Given the description of an element on the screen output the (x, y) to click on. 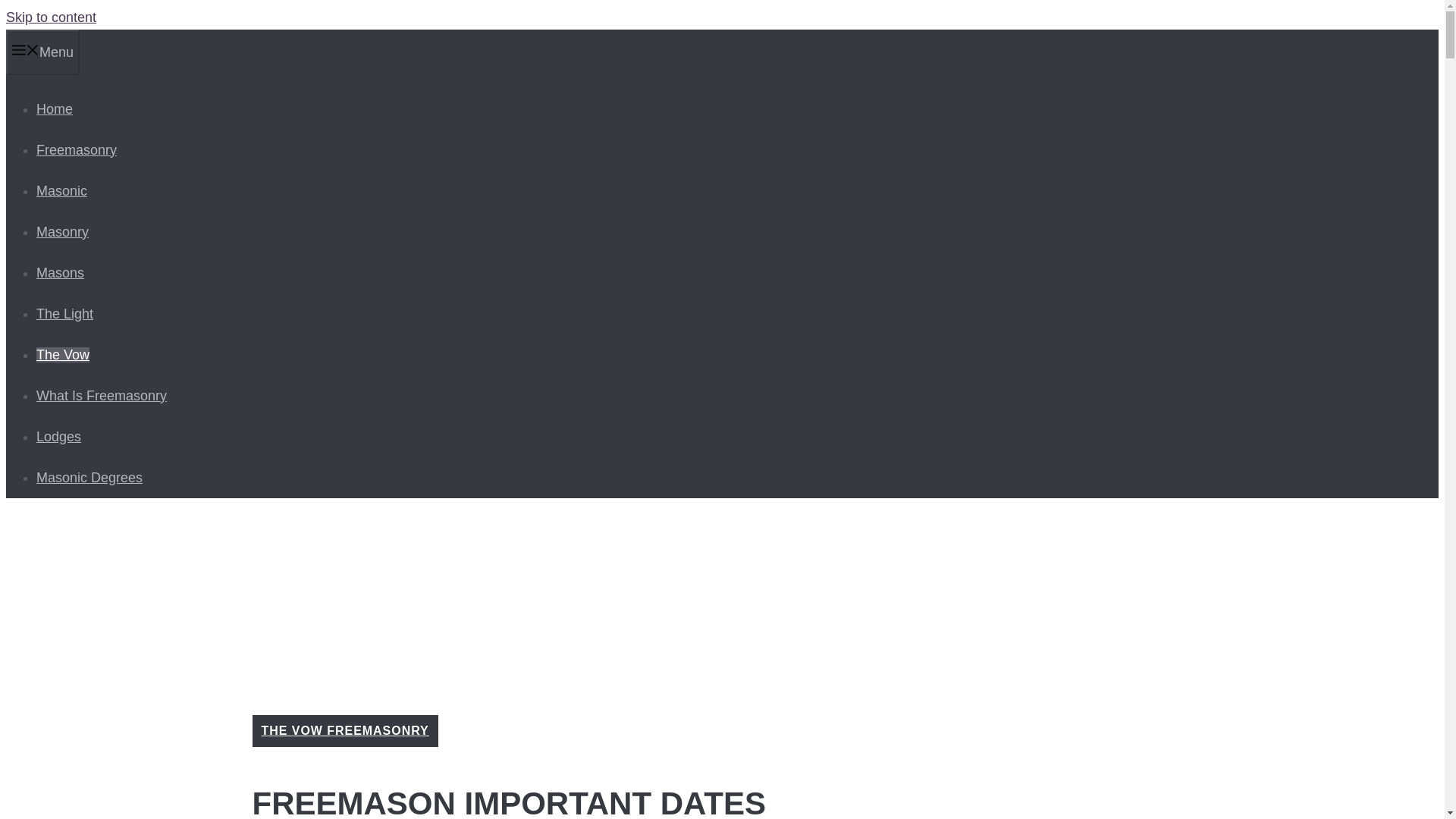
Masonic (61, 191)
Masons (60, 272)
The Vow (62, 354)
Home (54, 109)
Freemasonry (76, 150)
Masonic Degrees (89, 477)
What Is Freemasonry (101, 395)
The Light (64, 313)
Masonry (62, 231)
Lodges (58, 436)
Skip to content (50, 17)
Skip to content (50, 17)
Menu (42, 52)
THE VOW FREEMASONRY (344, 730)
